Given the description of an element on the screen output the (x, y) to click on. 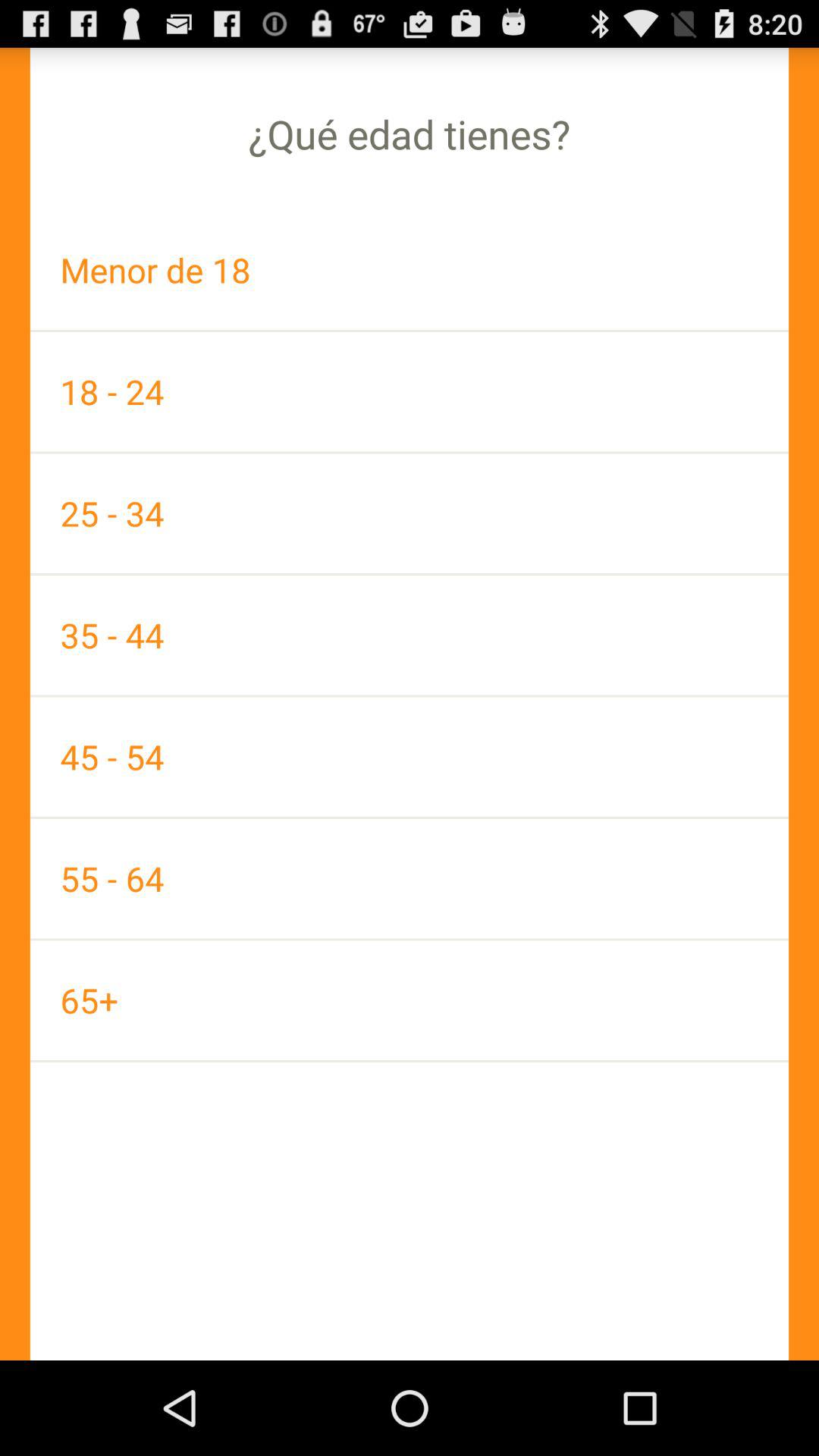
scroll until menor de 18 icon (409, 269)
